Given the description of an element on the screen output the (x, y) to click on. 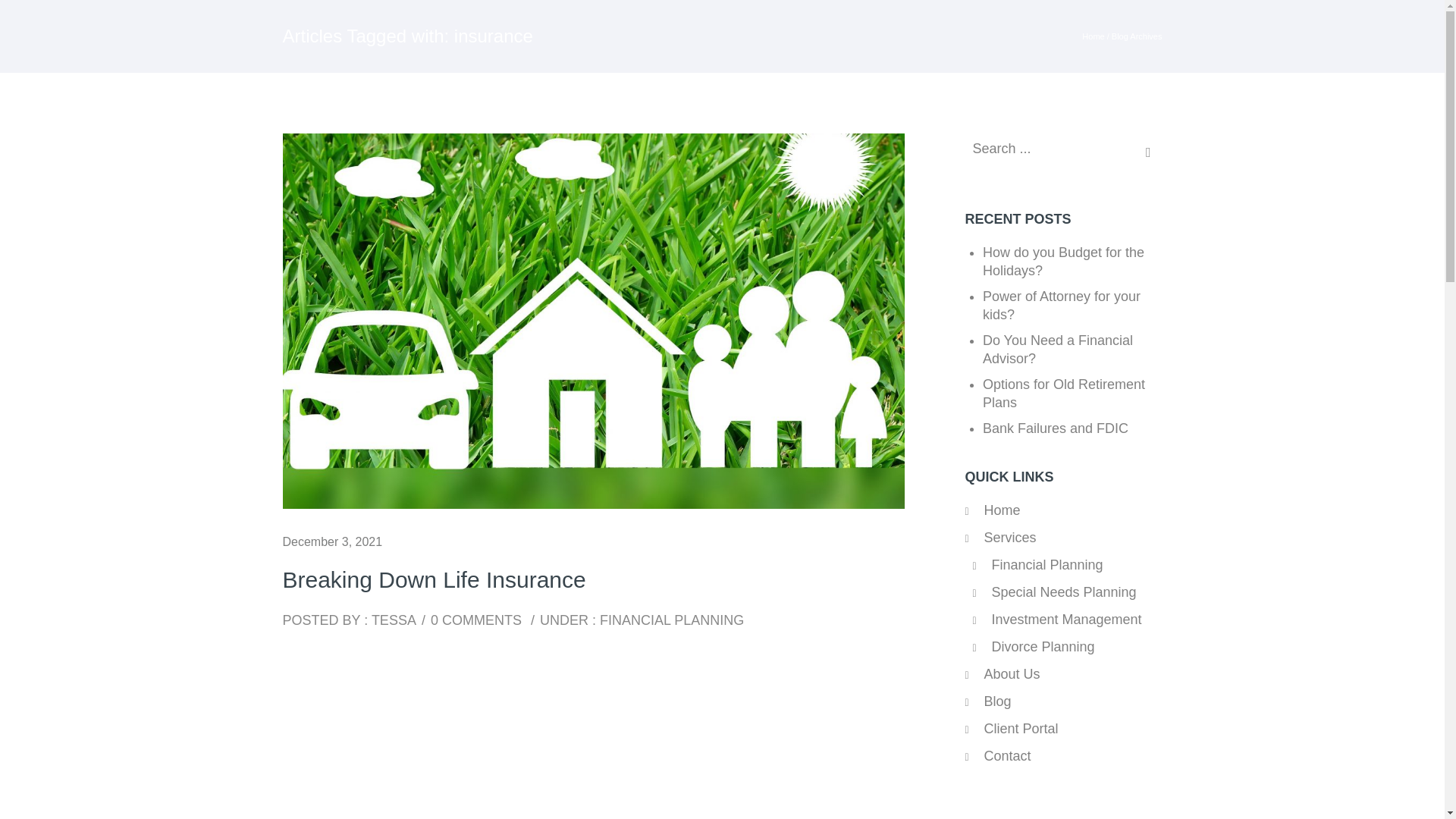
Contact (1007, 755)
Special Needs Planning (1064, 591)
Financial Planning (1047, 564)
Client Portal (1021, 728)
December 3, 2021 (331, 541)
Blog (997, 701)
About Us (1012, 673)
Home (1092, 35)
Financial Planning (1047, 564)
Special Needs Planning (1064, 591)
